Given the description of an element on the screen output the (x, y) to click on. 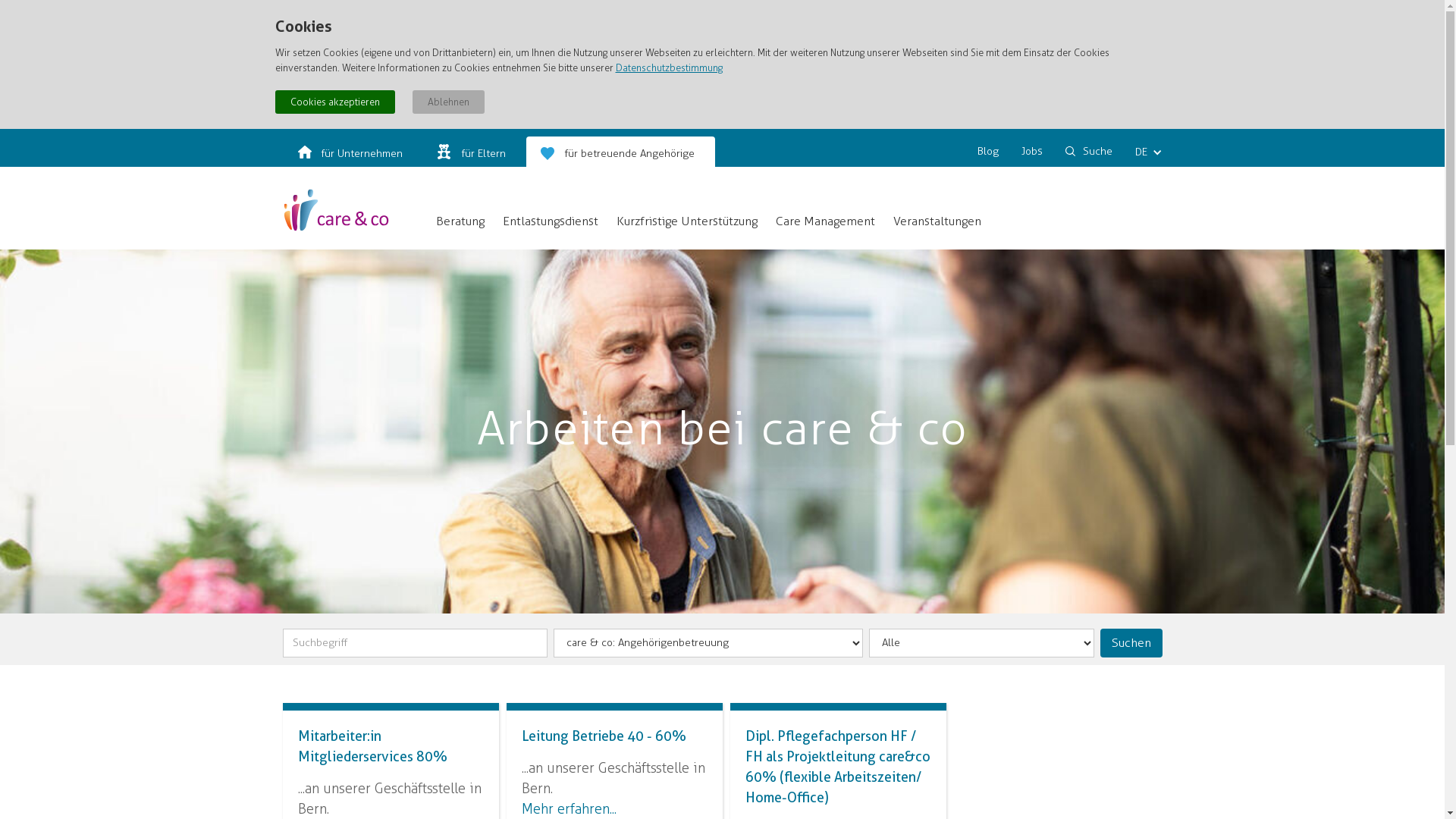
Care Management Element type: text (824, 220)
Entlastungsdienst Element type: text (549, 220)
Veranstaltungen Element type: text (937, 220)
Cookies akzeptieren Element type: text (334, 101)
Datenschutzbestimmung Element type: text (668, 67)
Blog Element type: text (983, 151)
Suchen Element type: text (1130, 642)
Suche Element type: text (1093, 151)
Jobs Element type: text (1027, 151)
Mehr erfahren... Element type: text (568, 808)
Ablehnen Element type: text (448, 101)
Arbeiten bei care & co Element type: text (722, 428)
Beratung Element type: text (459, 220)
